Given the description of an element on the screen output the (x, y) to click on. 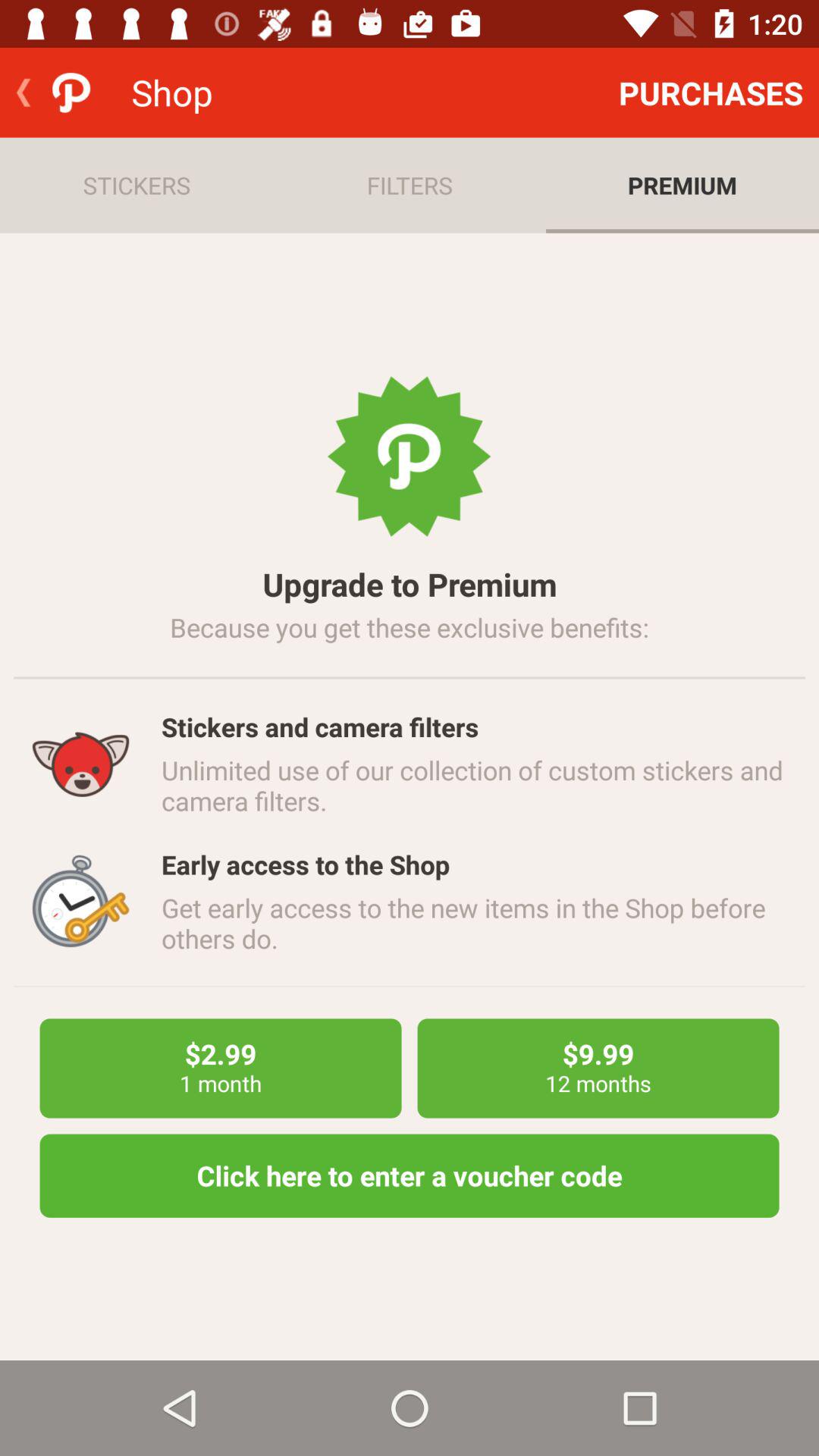
press the app above premium item (710, 92)
